Given the description of an element on the screen output the (x, y) to click on. 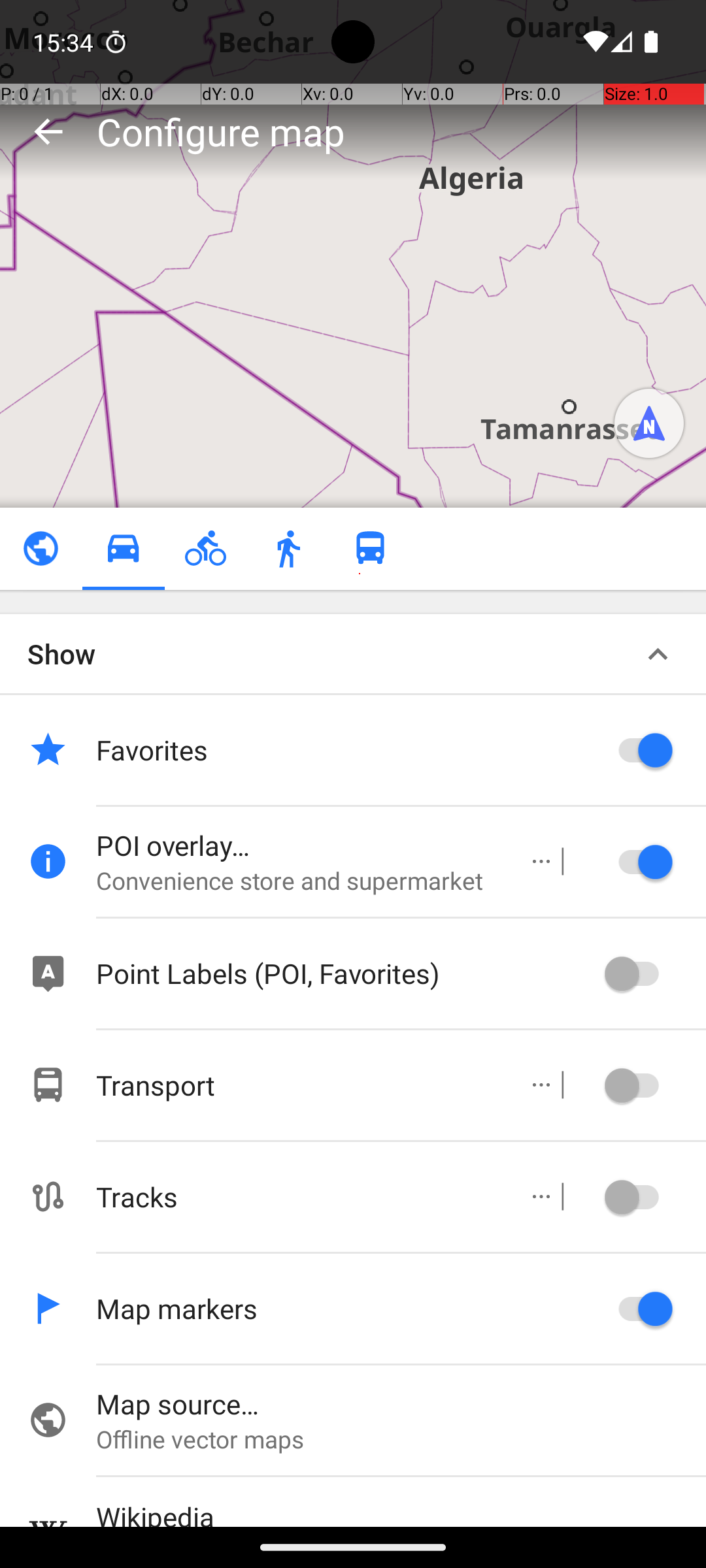
Movement direction Element type: android.widget.ImageButton (649, 423)
Browse map unchecked Element type: android.widget.ImageView (40, 548)
Driving checked Element type: android.widget.ImageView (122, 548)
Convenience store and supermarket Element type: android.widget.TextView (298, 880)
